Given the description of an element on the screen output the (x, y) to click on. 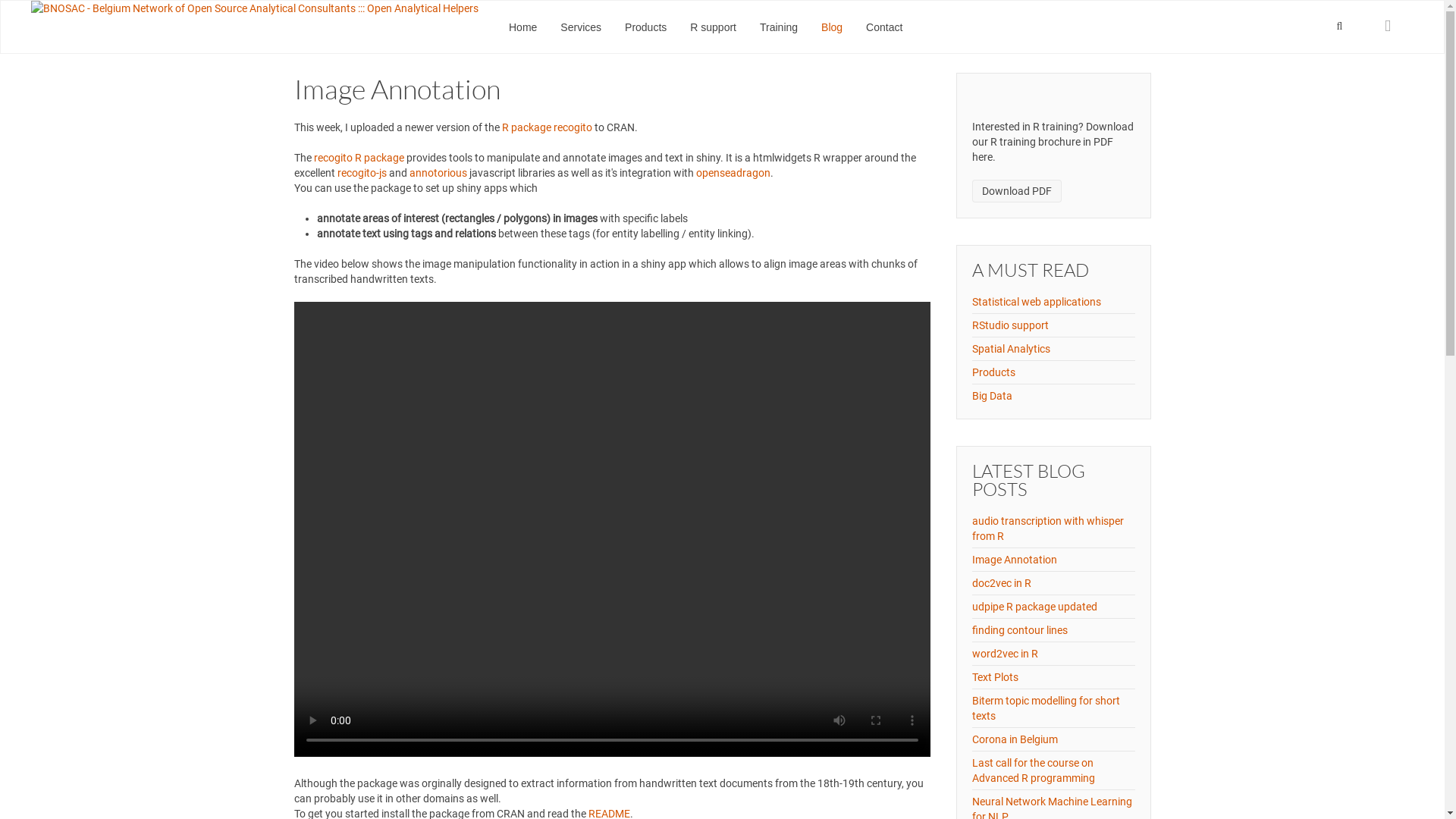
Contact Element type: text (883, 26)
R support Element type: text (712, 26)
Big Data Element type: text (992, 395)
Image Annotation Element type: text (1014, 559)
recogito R package Element type: text (358, 157)
RStudio support Element type: text (1010, 325)
Services Element type: text (580, 26)
Biterm topic modelling for short texts Element type: text (1046, 707)
Text Plots Element type: text (995, 677)
Statistical web applications Element type: text (1036, 301)
Products Element type: text (993, 372)
Spatial Analytics Element type: text (1011, 348)
word2vec in R Element type: text (1005, 653)
Download PDF Element type: text (1016, 190)
recogito-js Element type: text (360, 172)
Home Element type: text (522, 26)
Blog Element type: text (831, 26)
openseadragon Element type: text (733, 172)
Products Element type: text (645, 26)
doc2vec in R Element type: text (1001, 583)
Training Element type: text (778, 26)
R package recogito Element type: text (547, 127)
Last call for the course on Advanced R programming Element type: text (1033, 770)
finding contour lines Element type: text (1019, 630)
audio transcription with whisper from R Element type: text (1047, 528)
annotorious Element type: text (439, 172)
udpipe R package updated Element type: text (1034, 606)
Corona in Belgium Element type: text (1014, 739)
